Given the description of an element on the screen output the (x, y) to click on. 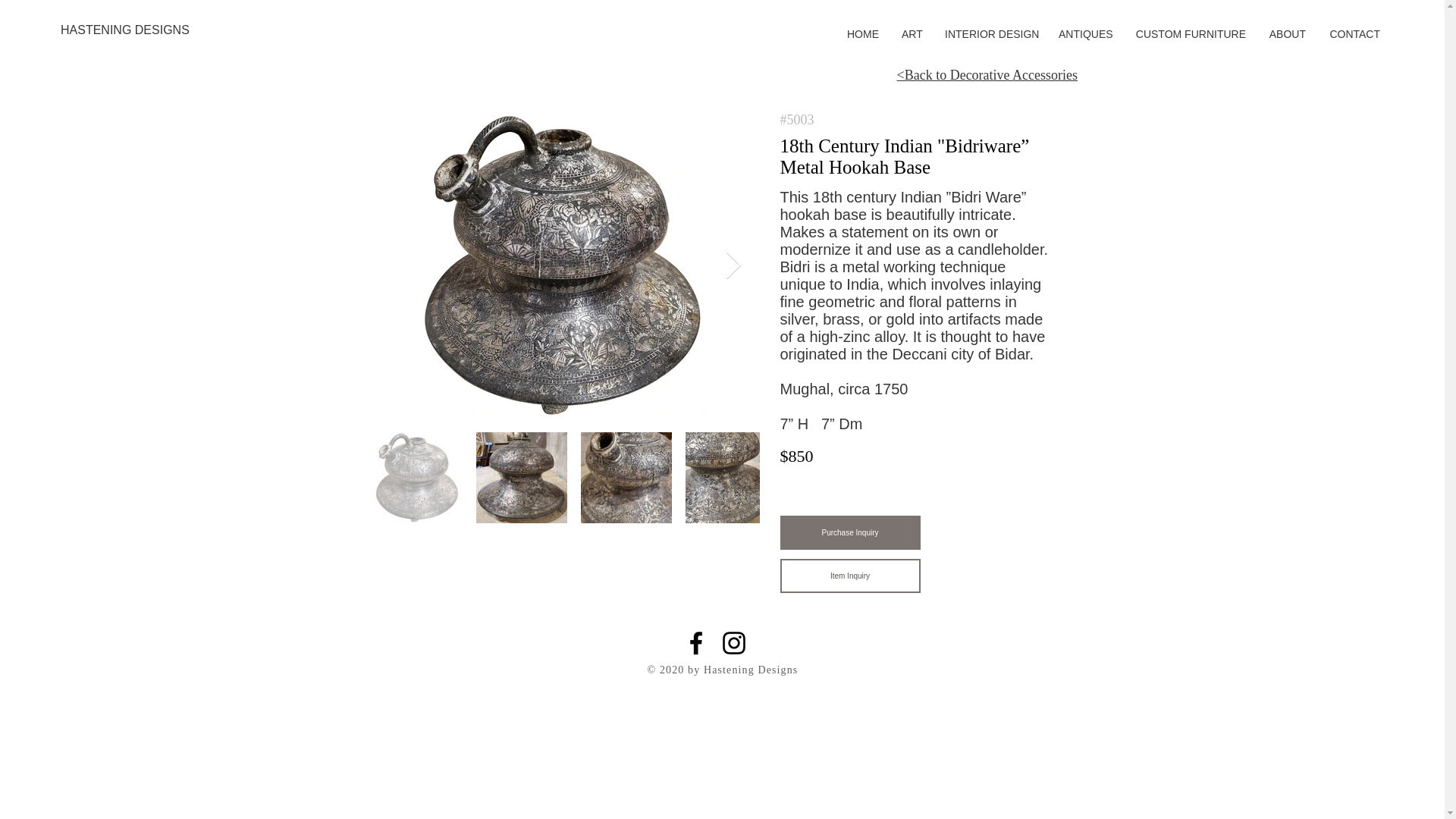
HOME (862, 34)
ABOUT (1287, 34)
INTERIOR DESIGN (989, 34)
ANTIQUES (1085, 34)
ART (911, 34)
Purchase Inquiry (849, 532)
CONTACT (1354, 34)
Item Inquiry (849, 575)
HASTENING DESIGNS (125, 30)
CUSTOM FURNITURE (1190, 34)
